Given the description of an element on the screen output the (x, y) to click on. 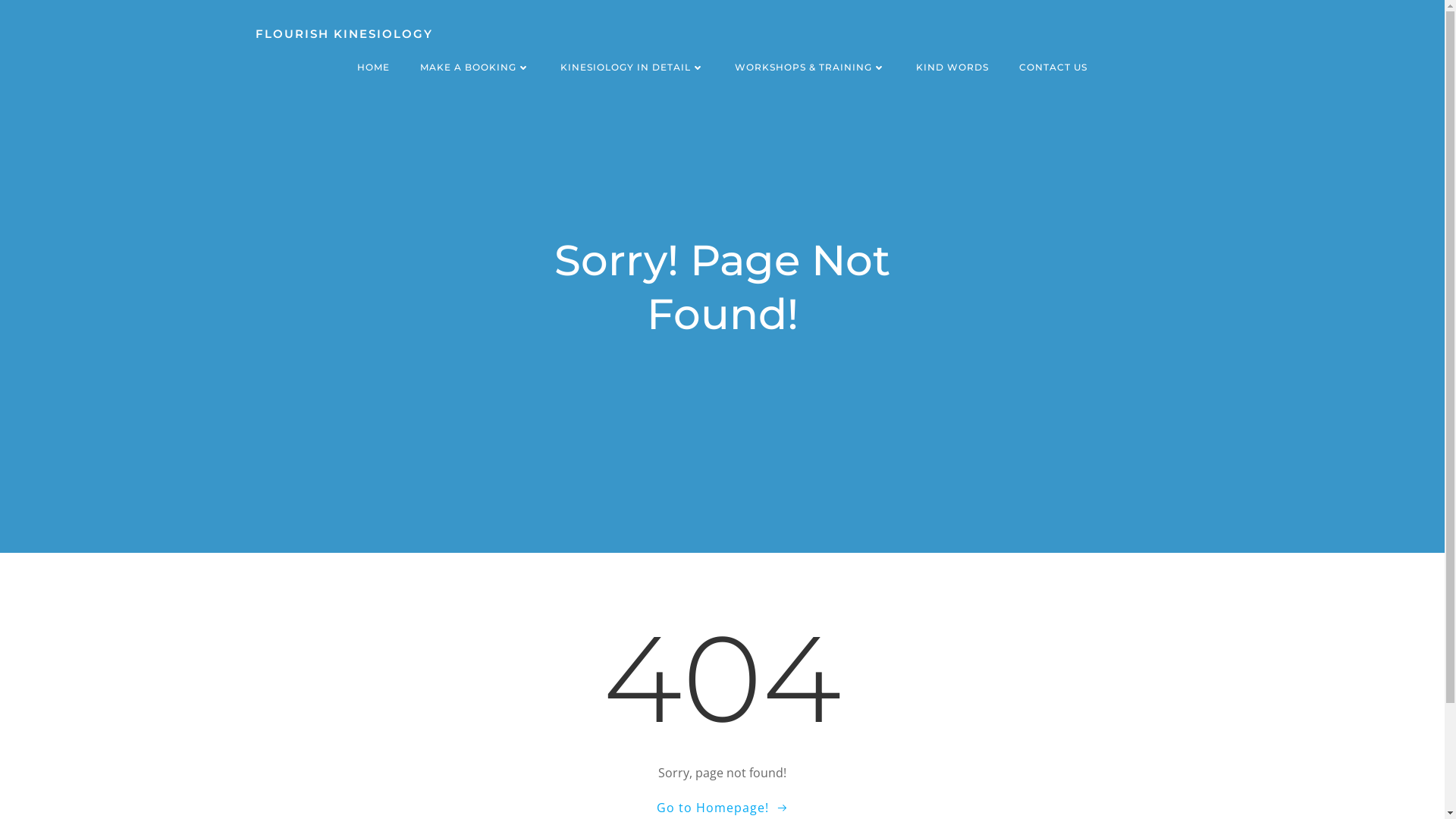
WORKSHOPS & TRAINING Element type: text (809, 67)
Go to Homepage! Element type: text (722, 807)
MAKE A BOOKING Element type: text (475, 67)
KINESIOLOGY IN DETAIL Element type: text (632, 67)
HOME Element type: text (373, 67)
CONTACT US Element type: text (1053, 67)
FLOURISH KINESIOLOGY Element type: text (343, 34)
KIND WORDS Element type: text (952, 67)
